Given the description of an element on the screen output the (x, y) to click on. 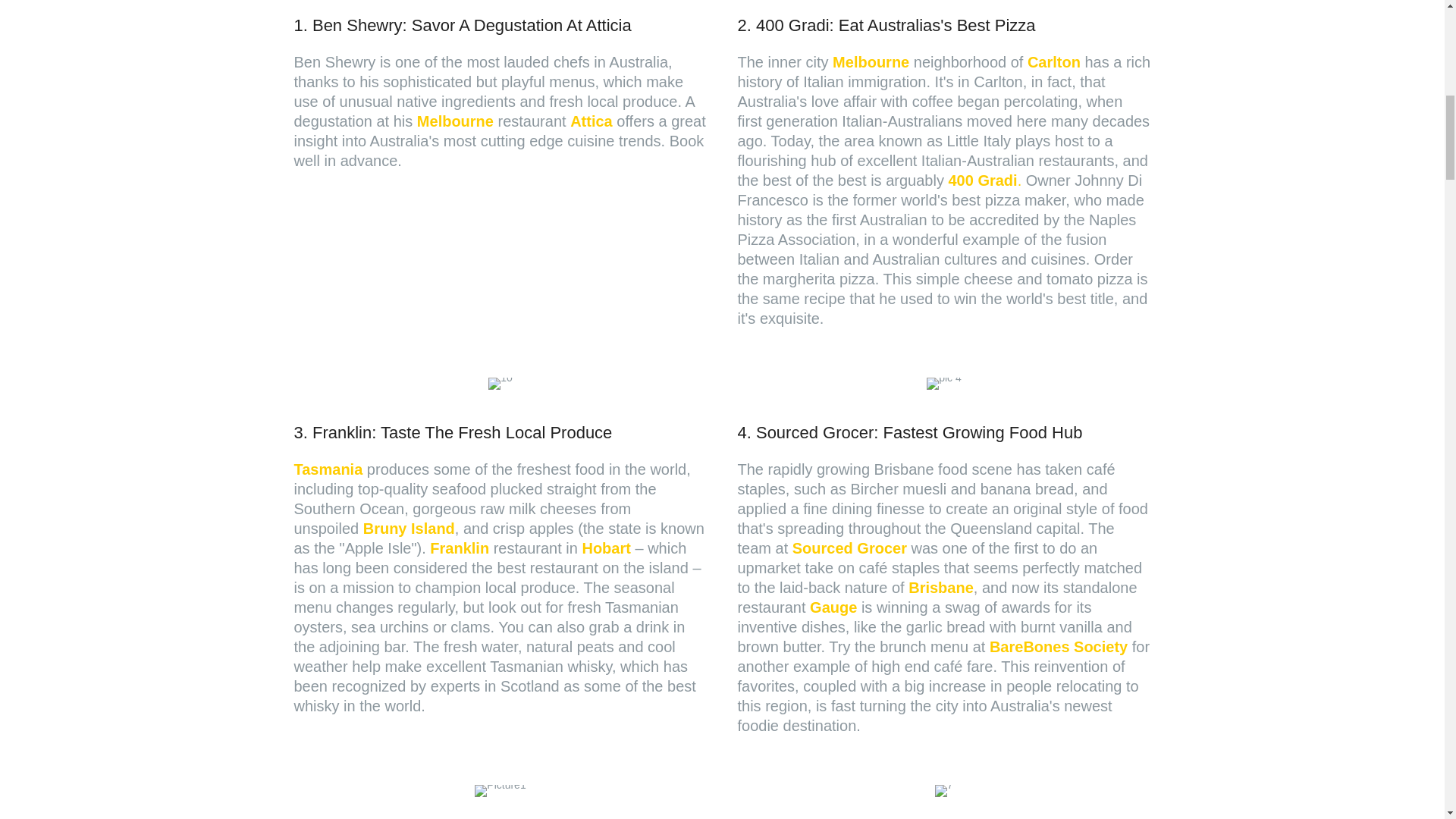
Carlton (1053, 62)
Franklin (459, 547)
Gauge (833, 606)
Sourced Grocer (849, 547)
BareBones Society (1058, 646)
400 Gradi (981, 180)
Tasmania (328, 469)
Melbourne (454, 121)
Attica (591, 121)
Melbourne (870, 62)
